Given the description of an element on the screen output the (x, y) to click on. 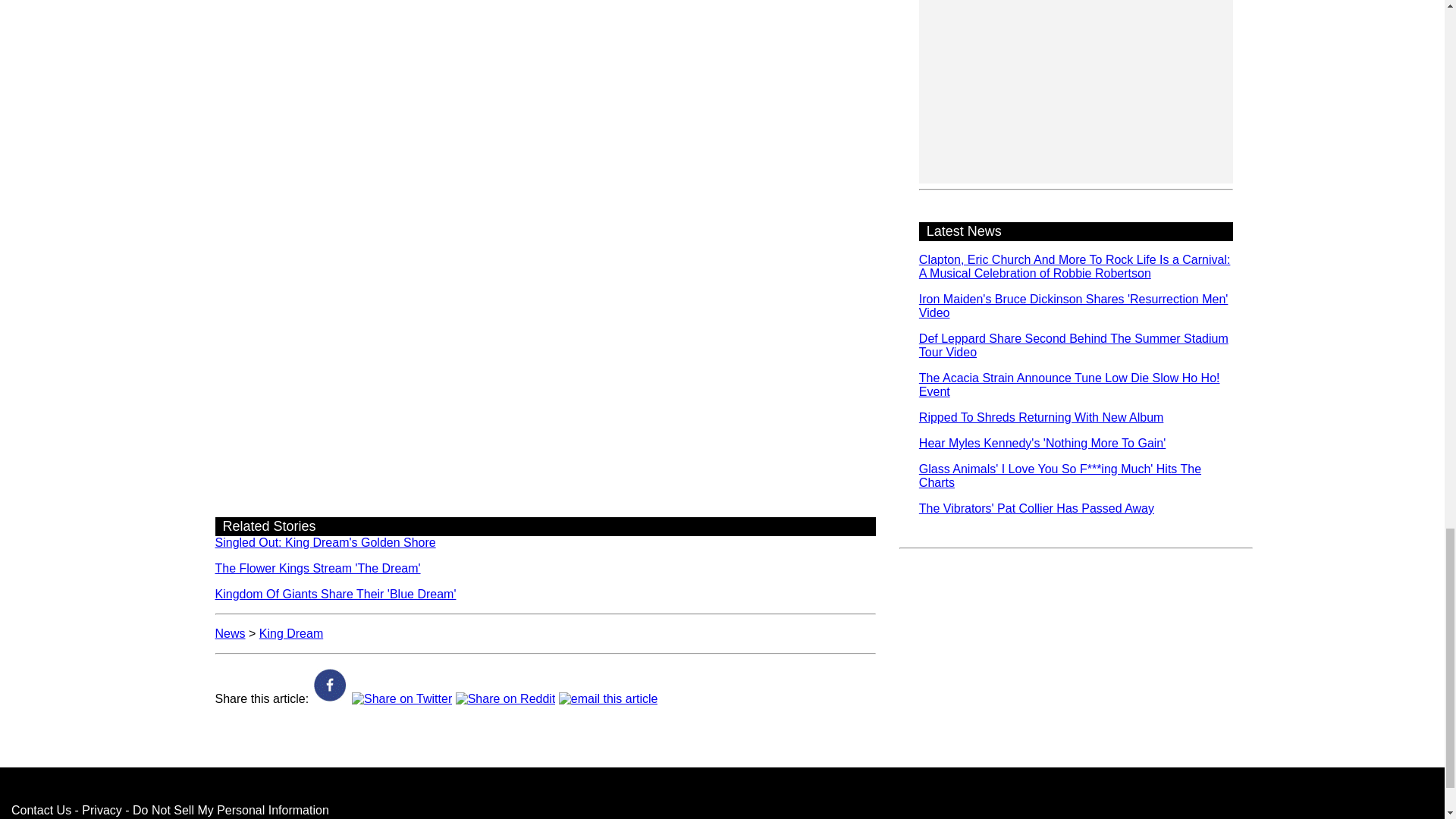
Ripped To Shreds Returning With New Album (1040, 417)
Share on Facebook (331, 698)
Share on Reddit (505, 698)
Contact Us (41, 809)
Tweet (401, 698)
Kingdom Of Giants Share Their 'Blue Dream' (336, 594)
King Dream (291, 633)
The Vibrators' Pat Collier Has Passed Away (1036, 508)
News (230, 633)
Send email (608, 698)
The Flower Kings Stream 'The Dream' (317, 567)
